Given the description of an element on the screen output the (x, y) to click on. 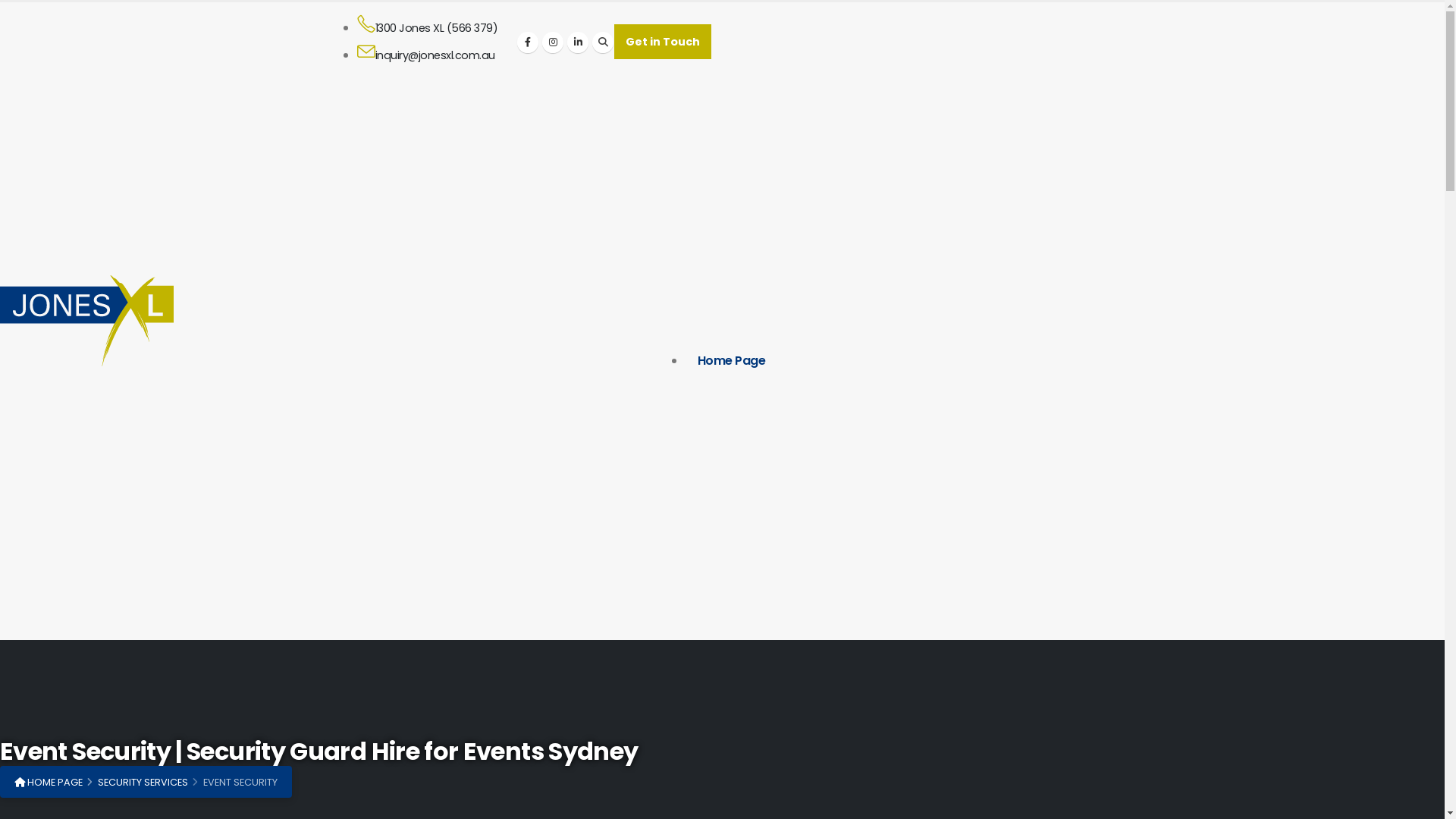
Home Page Element type: text (731, 360)
SECURITY SERVICES Element type: text (142, 781)
inquiry@jonesxl.com.au Element type: text (438, 55)
1300 Jones XL (566 379) Element type: text (440, 27)
Facebook Element type: hover (527, 42)
Instagram Element type: hover (552, 42)
HOME PAGE Element type: text (48, 781)
Linkedin Element type: hover (577, 42)
Get in Touch Element type: text (662, 41)
